Given the description of an element on the screen output the (x, y) to click on. 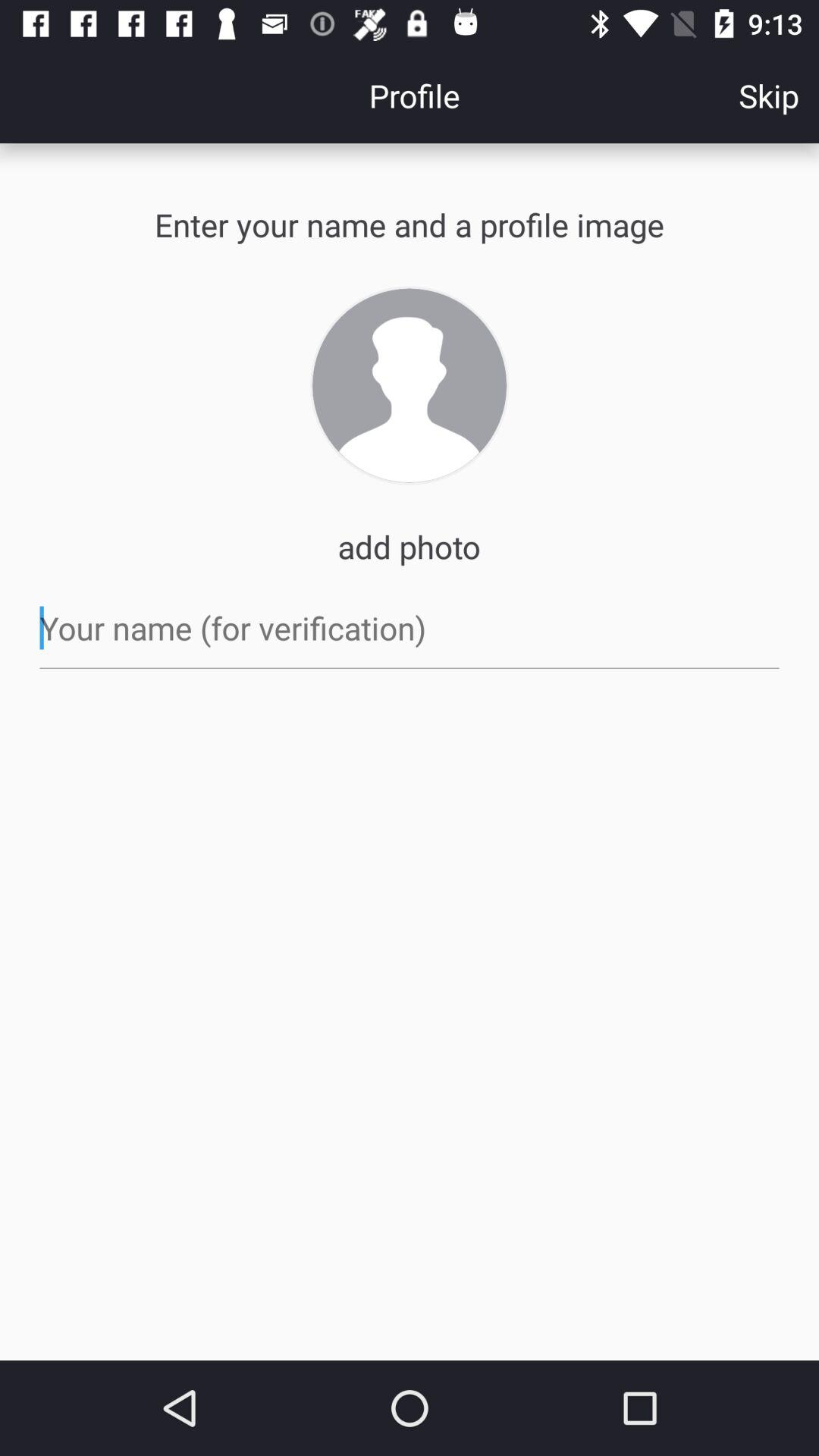
open icon above add photo (409, 385)
